Given the description of an element on the screen output the (x, y) to click on. 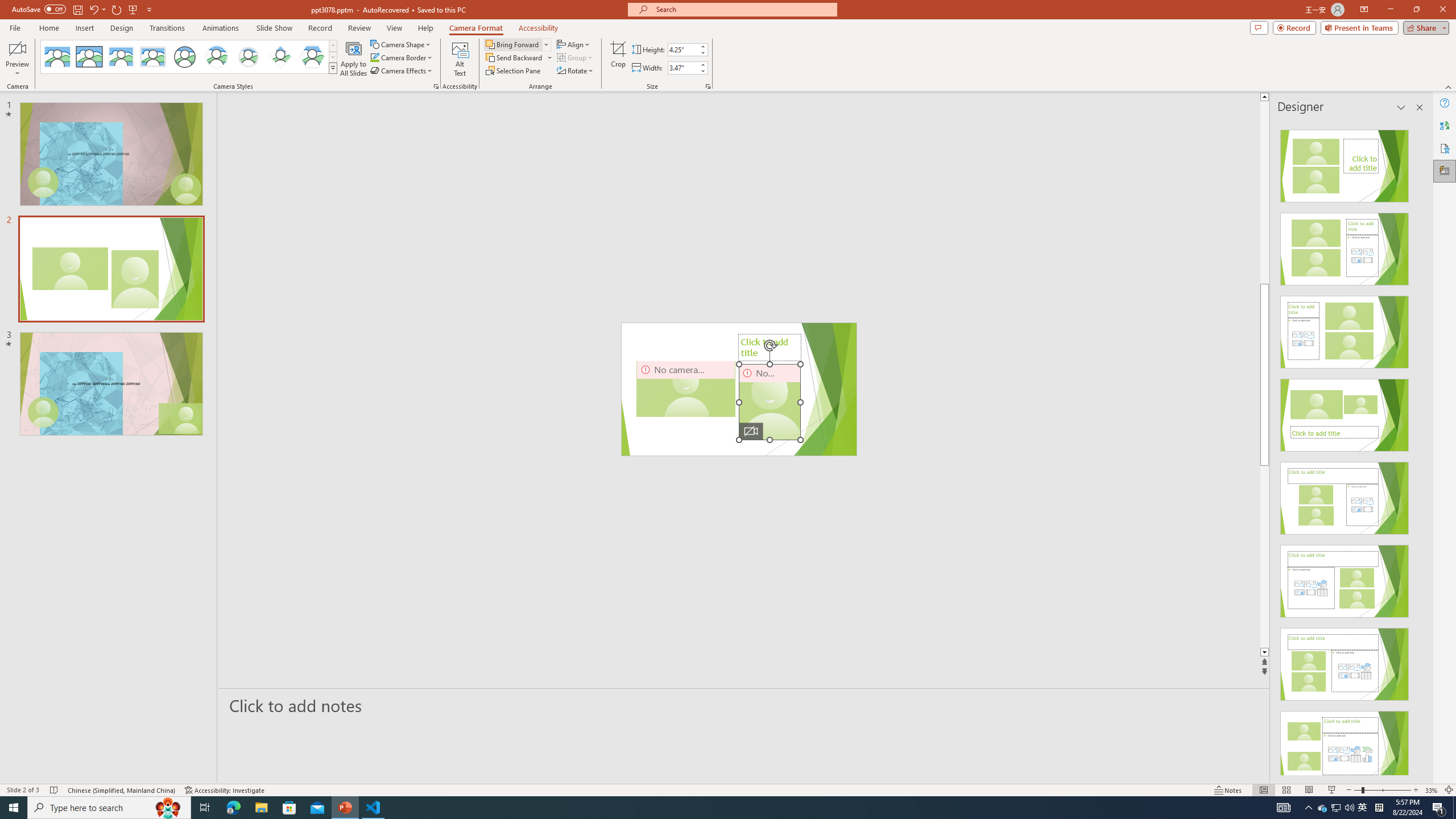
Align (574, 44)
Camera Format (475, 28)
Crop (617, 58)
Selection Pane... (513, 69)
Camera Border (401, 56)
Camera Effects (402, 69)
Group (575, 56)
